Given the description of an element on the screen output the (x, y) to click on. 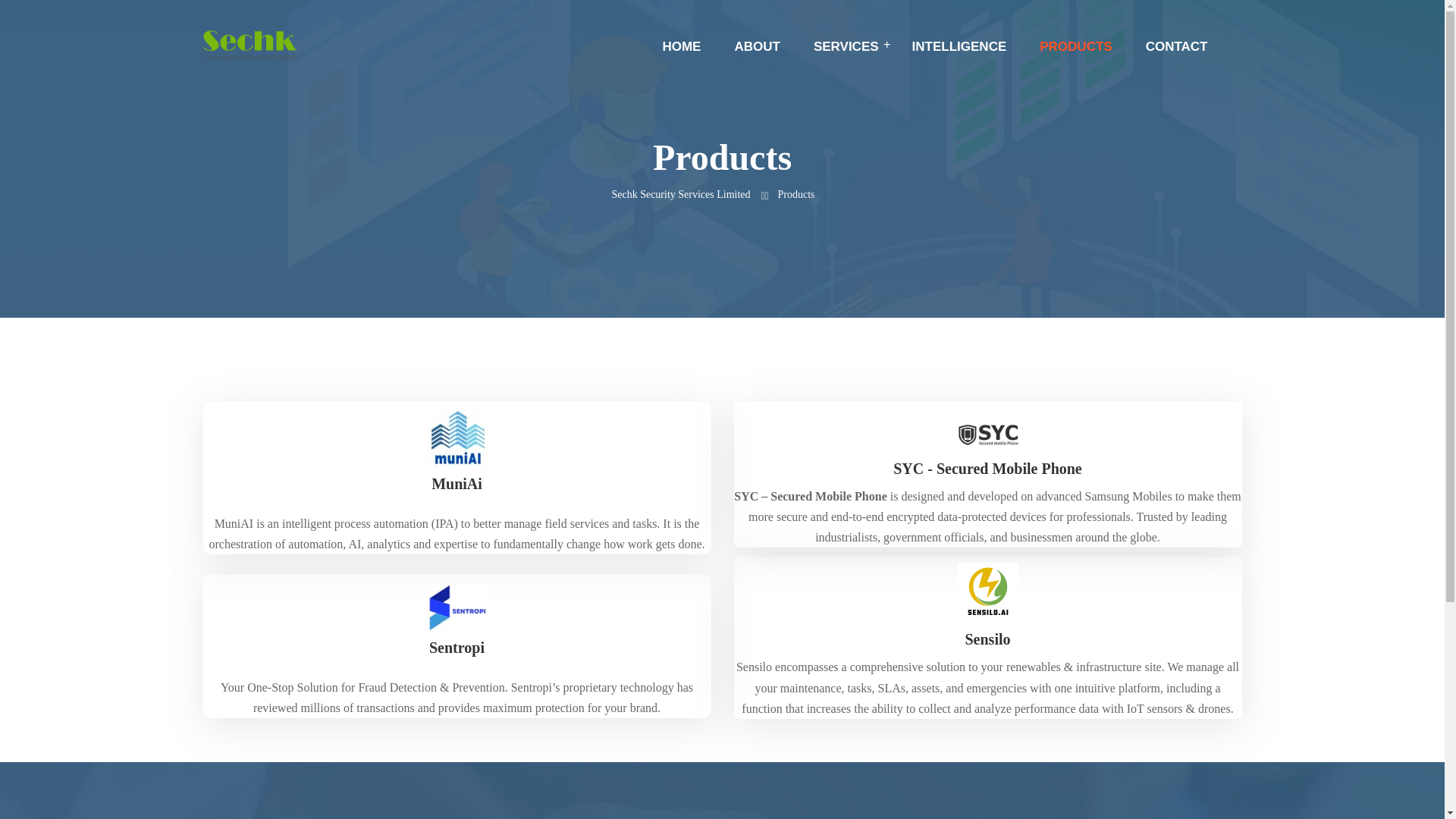
Go to Sechk Security Services Limited. (684, 194)
CONTACT (1176, 47)
Sechk Security Services Limited (684, 194)
PRODUCTS (1075, 47)
SERVICES (846, 47)
HOME (681, 47)
INTELLIGENCE (959, 47)
SYC - Secured Mobile Phone (987, 468)
Sentropi (456, 647)
Sensilo (986, 638)
ABOUT (755, 47)
MuniAi (455, 483)
